Given the description of an element on the screen output the (x, y) to click on. 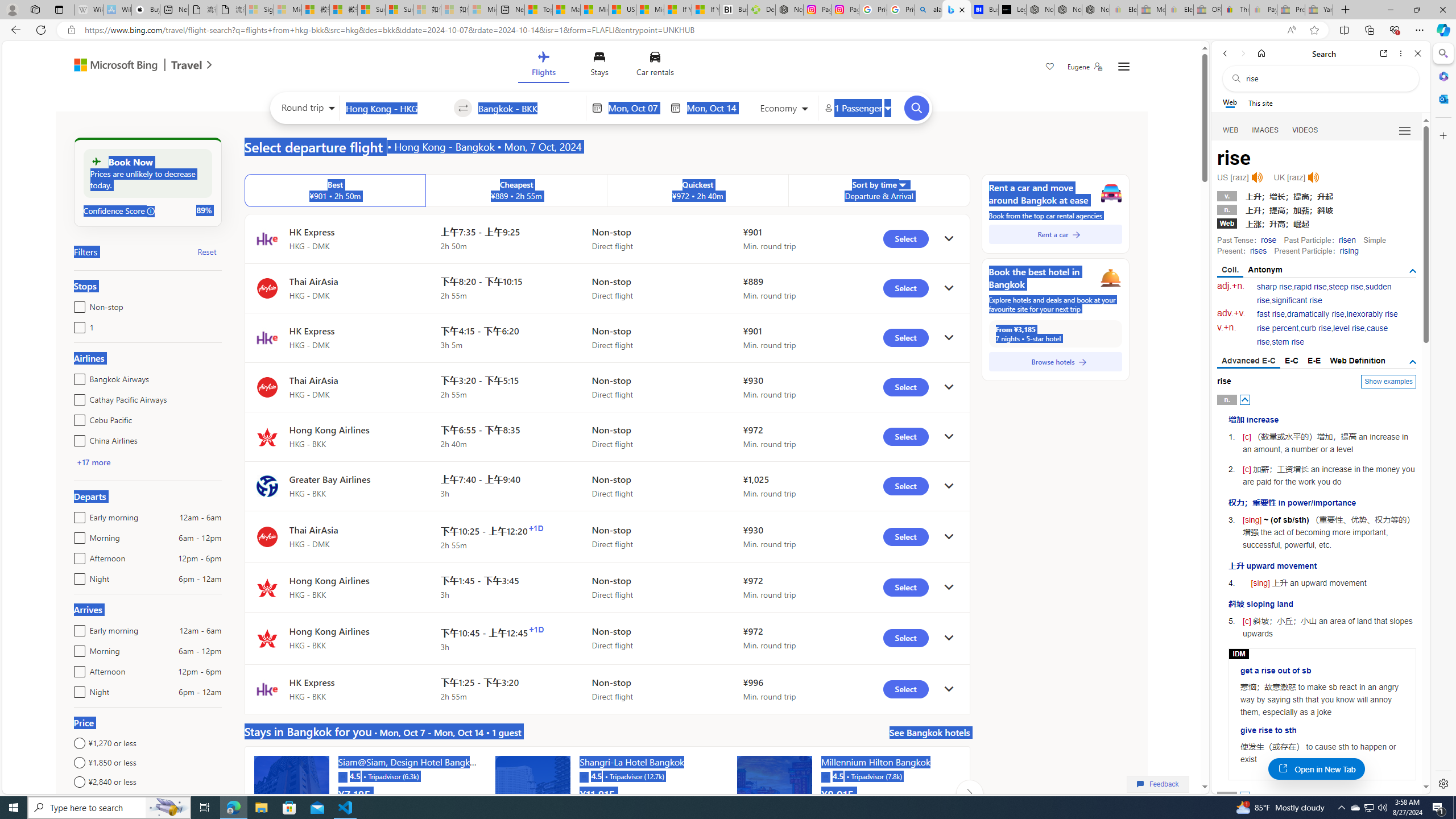
Search Filter, WEB (1231, 129)
Microsoft Bing Travel - Flights from Hong Kong to Bangkok (956, 9)
Class: msft-bing-logo msft-bing-logo-desktop (112, 64)
Cathay Pacific Airways (76, 397)
Going to? (528, 107)
Wikipedia - Sleeping (88, 9)
Non-stop (76, 304)
